Given the description of an element on the screen output the (x, y) to click on. 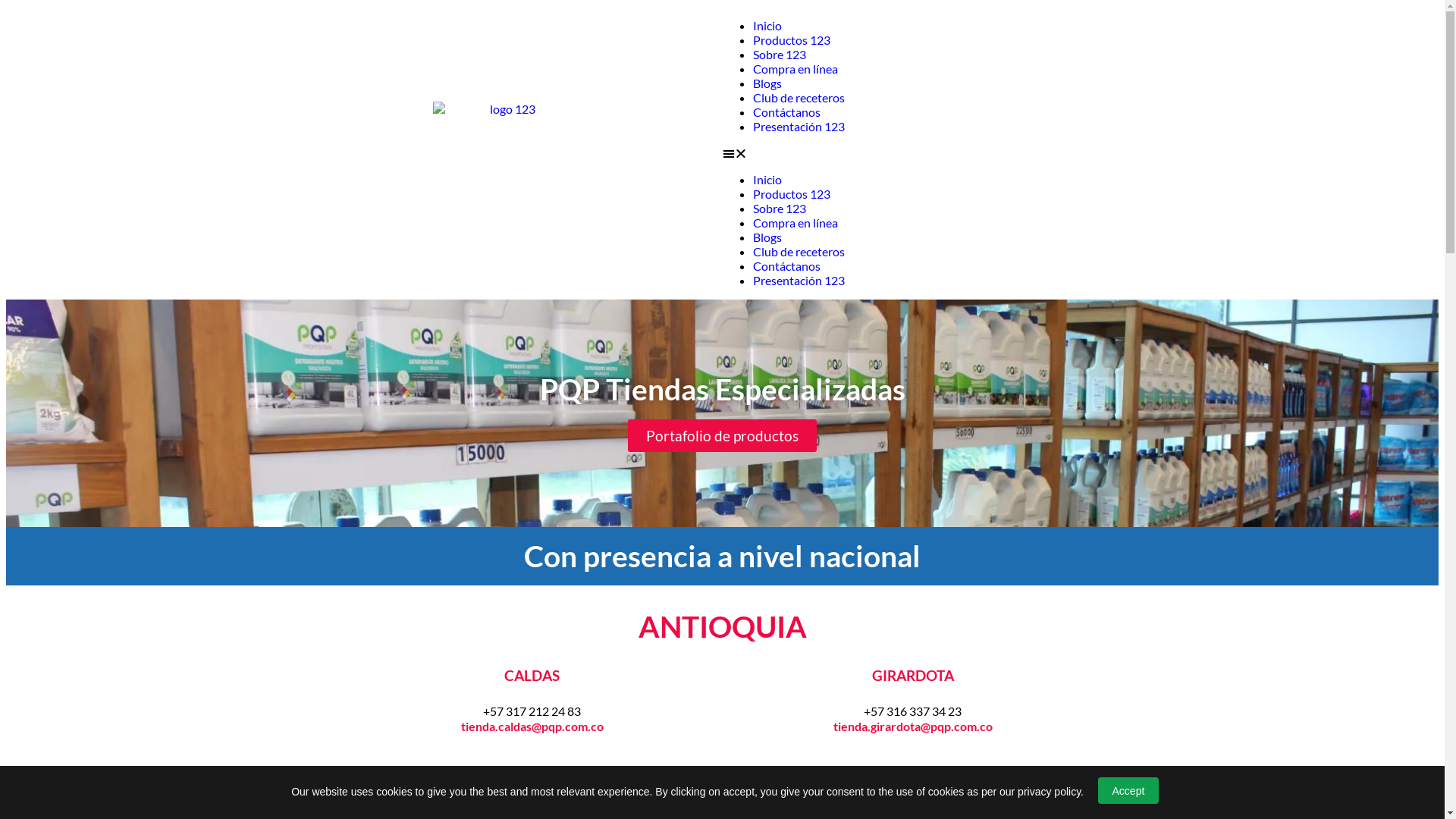
Portafolio de productos Element type: text (721, 435)
Blogs Element type: text (766, 82)
Inicio Element type: text (766, 179)
Blogs Element type: text (766, 236)
Inicio Element type: text (766, 25)
Sobre 123 Element type: text (778, 54)
Sobre 123 Element type: text (778, 207)
Productos 123 Element type: text (790, 39)
Productos 123 Element type: text (790, 193)
Club de receteros Element type: text (798, 97)
Club de receteros Element type: text (798, 251)
